Given the description of an element on the screen output the (x, y) to click on. 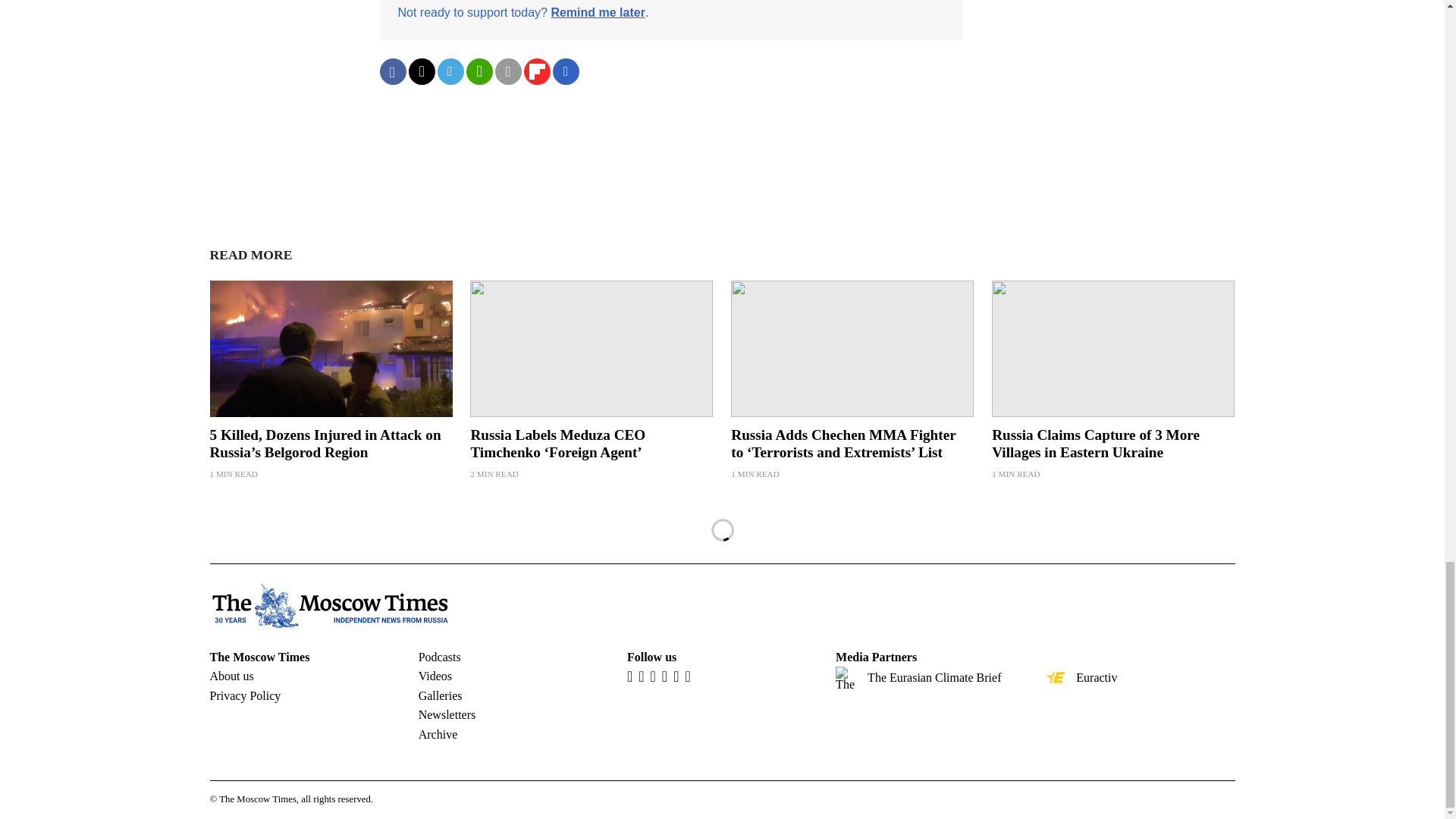
Share on Telegram (449, 71)
Share on Flipboard (536, 71)
Share on Facebook (392, 71)
Share on Twitter (420, 71)
